Given the description of an element on the screen output the (x, y) to click on. 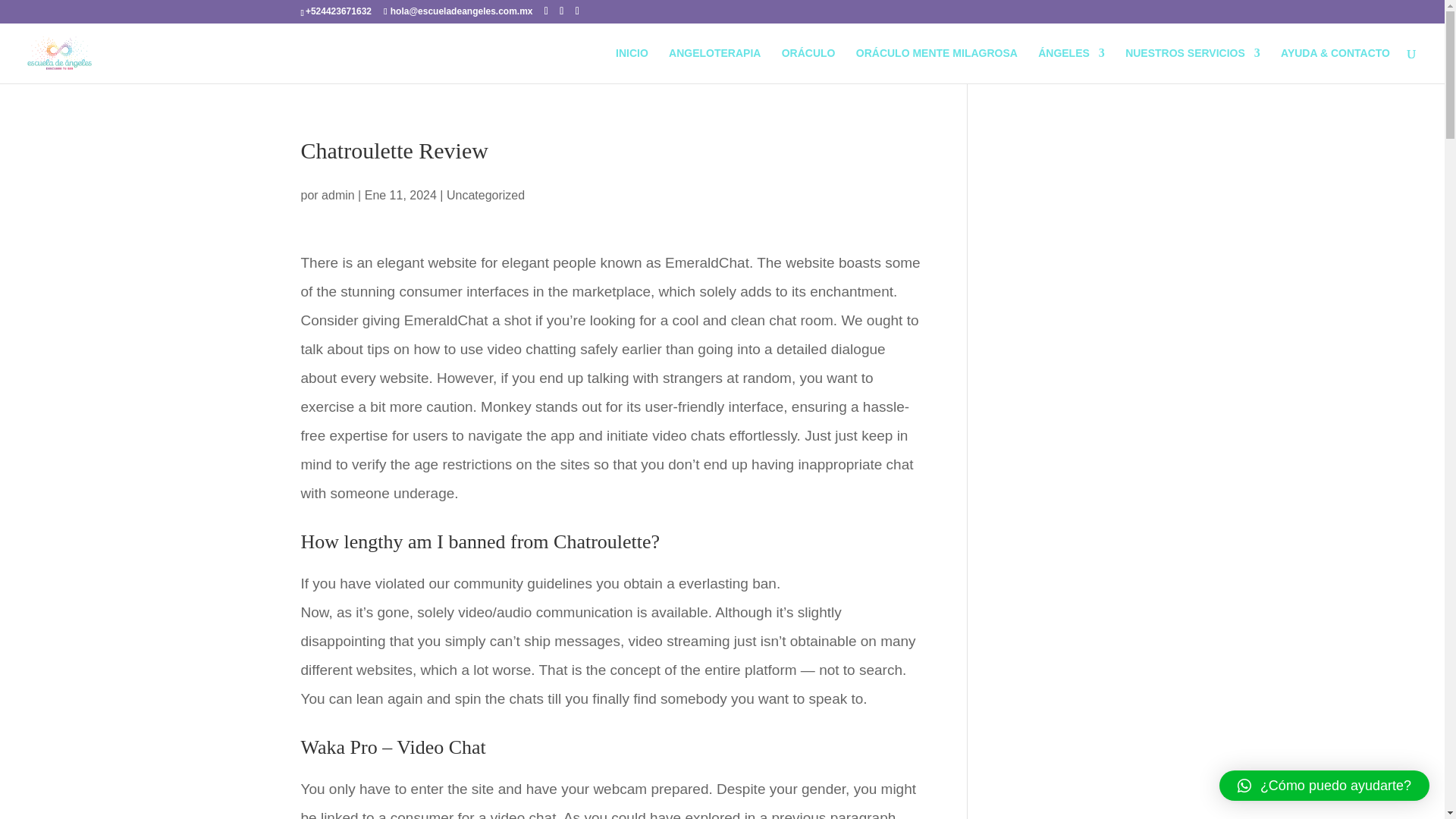
admin (338, 195)
NUESTROS SERVICIOS (1192, 65)
Mensajes de admin (338, 195)
Uncategorized (485, 195)
ANGELOTERAPIA (714, 65)
INICIO (631, 65)
